Given the description of an element on the screen output the (x, y) to click on. 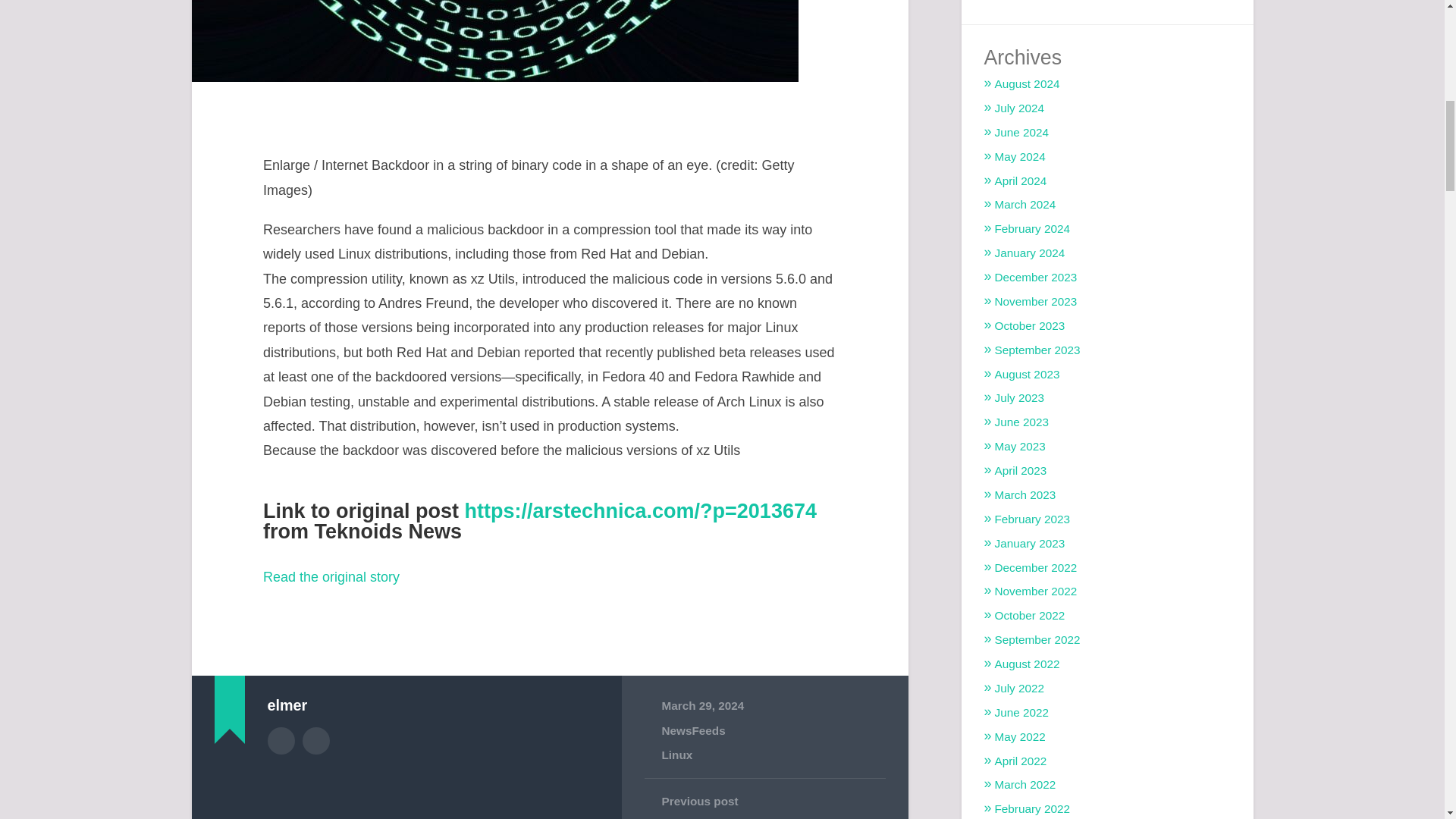
Author archive (280, 740)
July 2024 (1018, 107)
November 2023 (1035, 300)
June 2024 (1021, 132)
March 2024 (1025, 204)
December 2023 (1035, 277)
Read the original story (330, 576)
NewsFeeds (693, 730)
Author website (316, 740)
Previous post (765, 801)
